Given the description of an element on the screen output the (x, y) to click on. 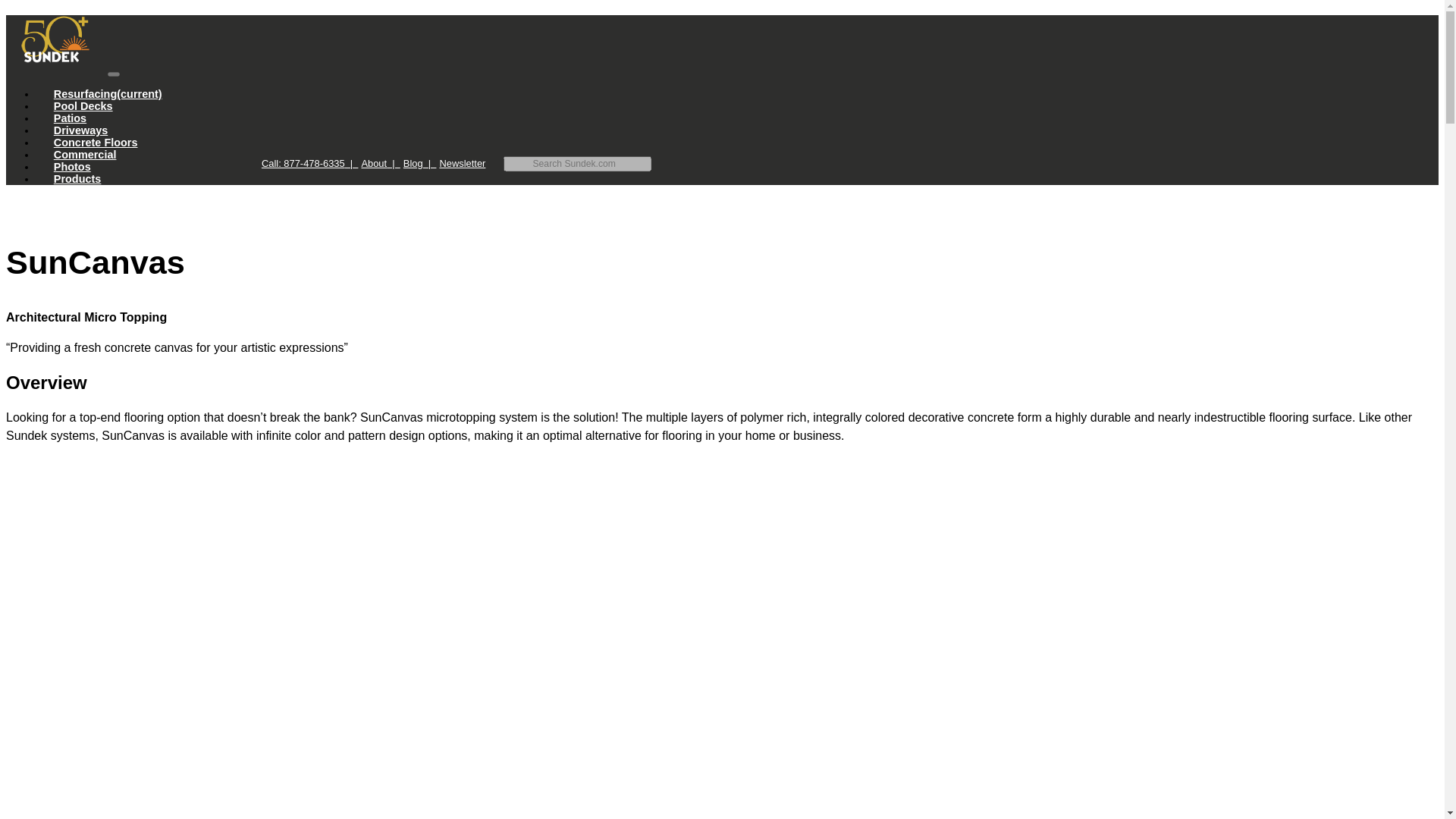
Products (76, 178)
Driveways (80, 130)
Newsletter (461, 163)
Patios (69, 118)
Photos (71, 166)
Pool Decks (82, 105)
Concrete Floors (95, 142)
Commercial (84, 154)
